Given the description of an element on the screen output the (x, y) to click on. 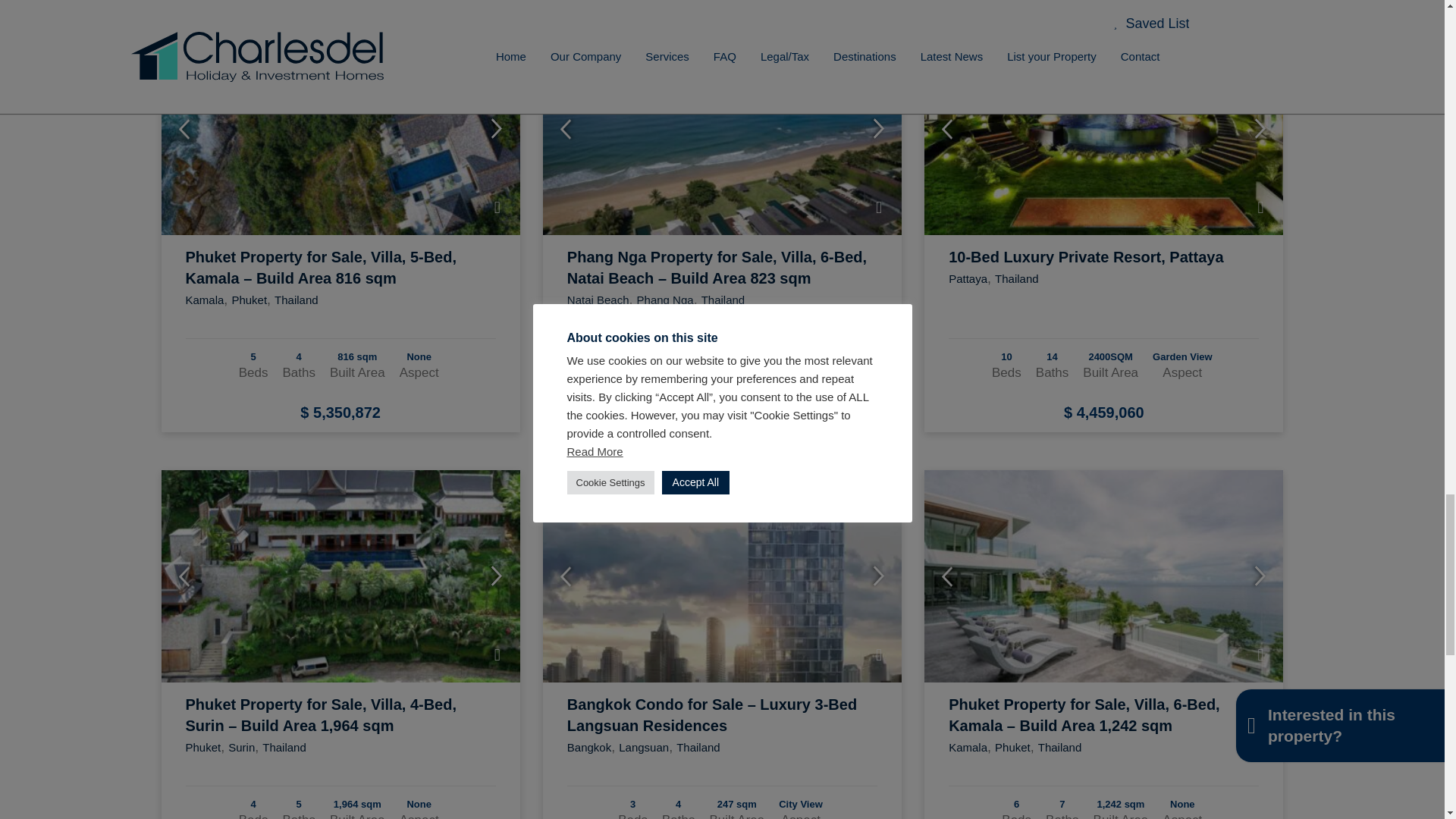
View all property in Thailand (296, 299)
View all property in Phuket (248, 299)
View all property in Kamala (204, 299)
View all property in Natai Beach (597, 299)
View all property in Phang Nga (665, 299)
